Given the description of an element on the screen output the (x, y) to click on. 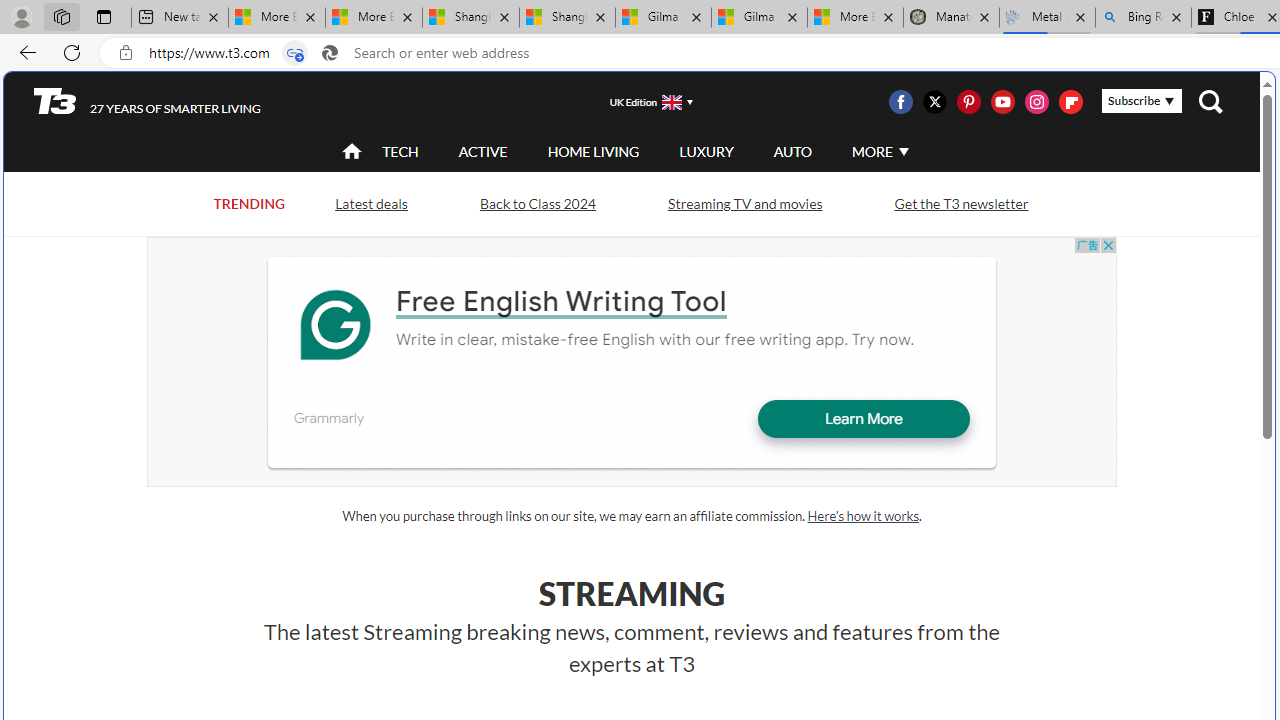
ACTIVE (483, 151)
UK Edition (643, 101)
Class: navigation__search (1210, 101)
Streaming TV and movies (744, 202)
Back to Class 2024 (537, 204)
